Given the description of an element on the screen output the (x, y) to click on. 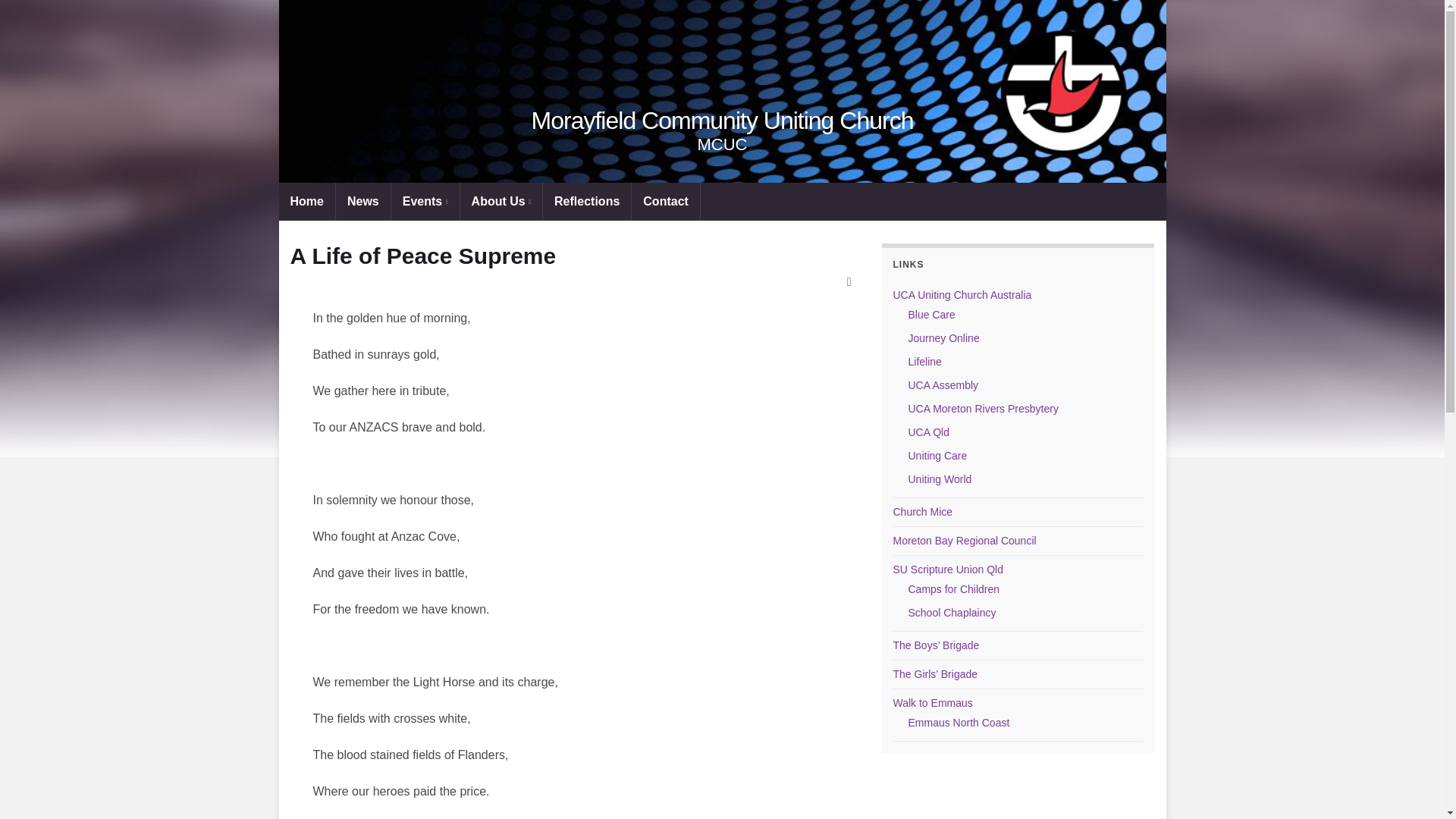
UCA Qld (928, 431)
UCA Uniting Church Australia (962, 295)
Events (425, 201)
Go back to the front page (722, 120)
Journey Online (943, 337)
News (363, 201)
Home (306, 201)
Contact (665, 201)
UCA Moreton Rivers Presbytery (983, 408)
Lifeline (925, 361)
Reflections (586, 201)
About Us (500, 201)
Blue Care (931, 314)
UCA Assembly (943, 385)
